Given the description of an element on the screen output the (x, y) to click on. 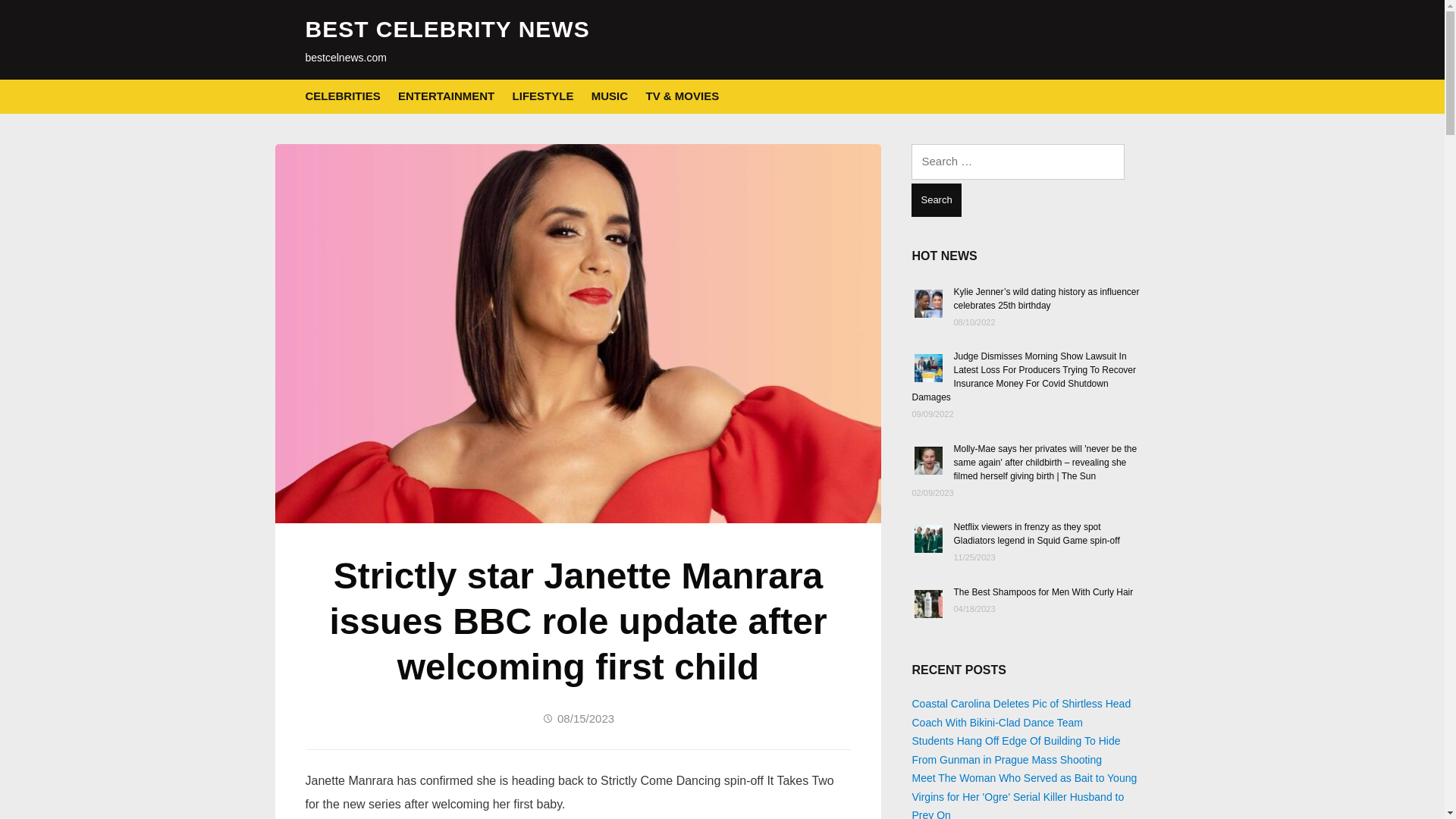
Search (935, 200)
CELEBRITIES (342, 96)
MUSIC (609, 96)
BEST CELEBRITY NEWS (446, 28)
LIFESTYLE (542, 96)
Search (935, 200)
ENTERTAINMENT (446, 96)
